Given the description of an element on the screen output the (x, y) to click on. 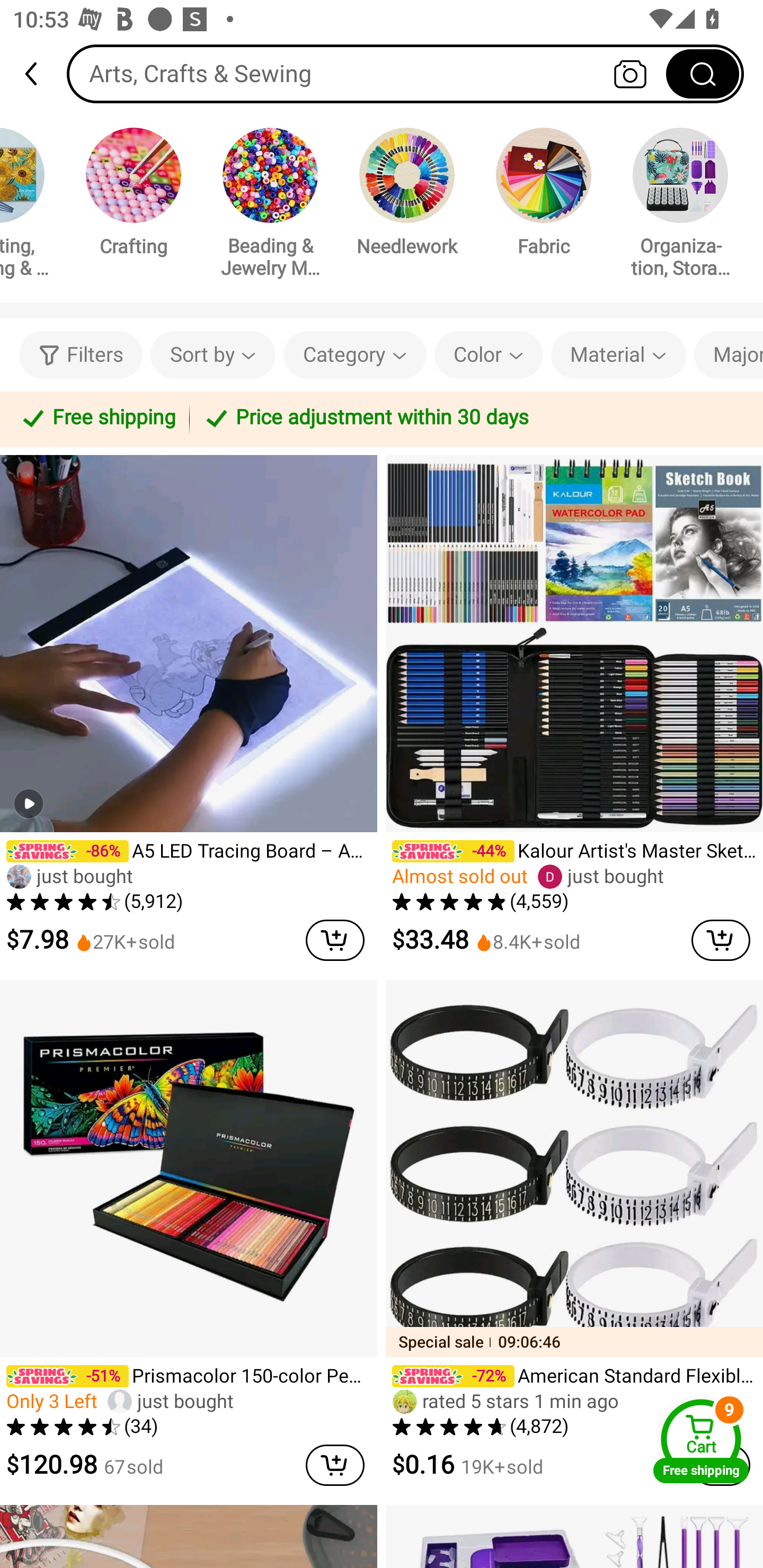
back (39, 73)
Arts, Crafts & Sewing (405, 73)
Painting, Drawing & Art Supplies (29, 205)
Crafting (133, 195)
Beading & Jewelry Making (269, 205)
Needlework (406, 195)
Fabric (543, 195)
Organization, Storage & Transport (680, 205)
Filters (80, 354)
Sort by (212, 354)
Category (354, 354)
Color (488, 354)
Material (617, 354)
Free shipping (97, 418)
Price adjustment within 30 days (472, 418)
cart delete (334, 939)
cart delete (720, 939)
Cart Free shipping Cart (701, 1440)
cart delete (334, 1465)
